Given the description of an element on the screen output the (x, y) to click on. 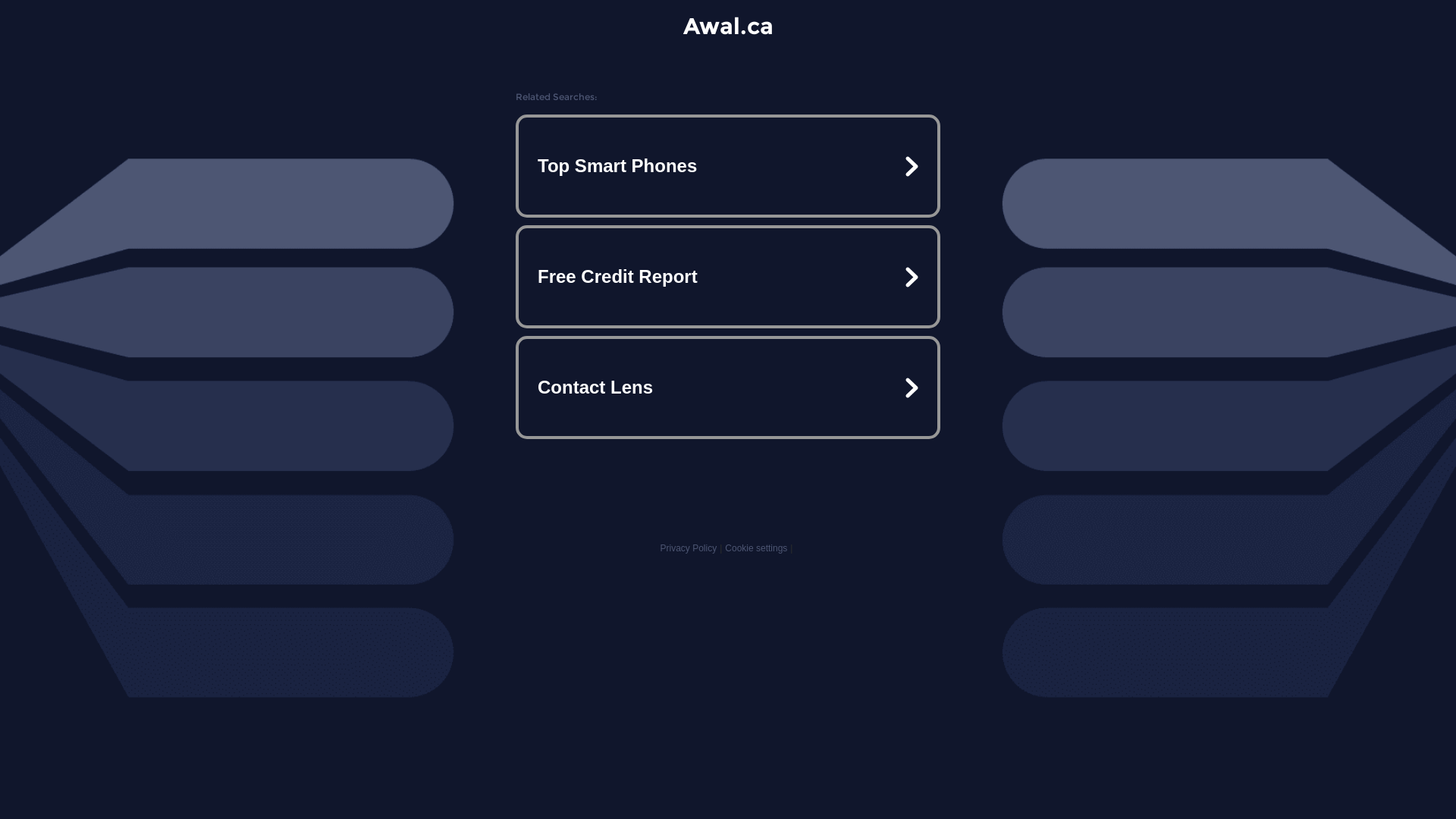
Free Credit Report Element type: text (727, 276)
Privacy Policy Element type: text (687, 547)
Cookie settings Element type: text (755, 547)
Contact Lens Element type: text (727, 387)
Top Smart Phones Element type: text (727, 165)
Awal.ca Element type: text (727, 26)
